Given the description of an element on the screen output the (x, y) to click on. 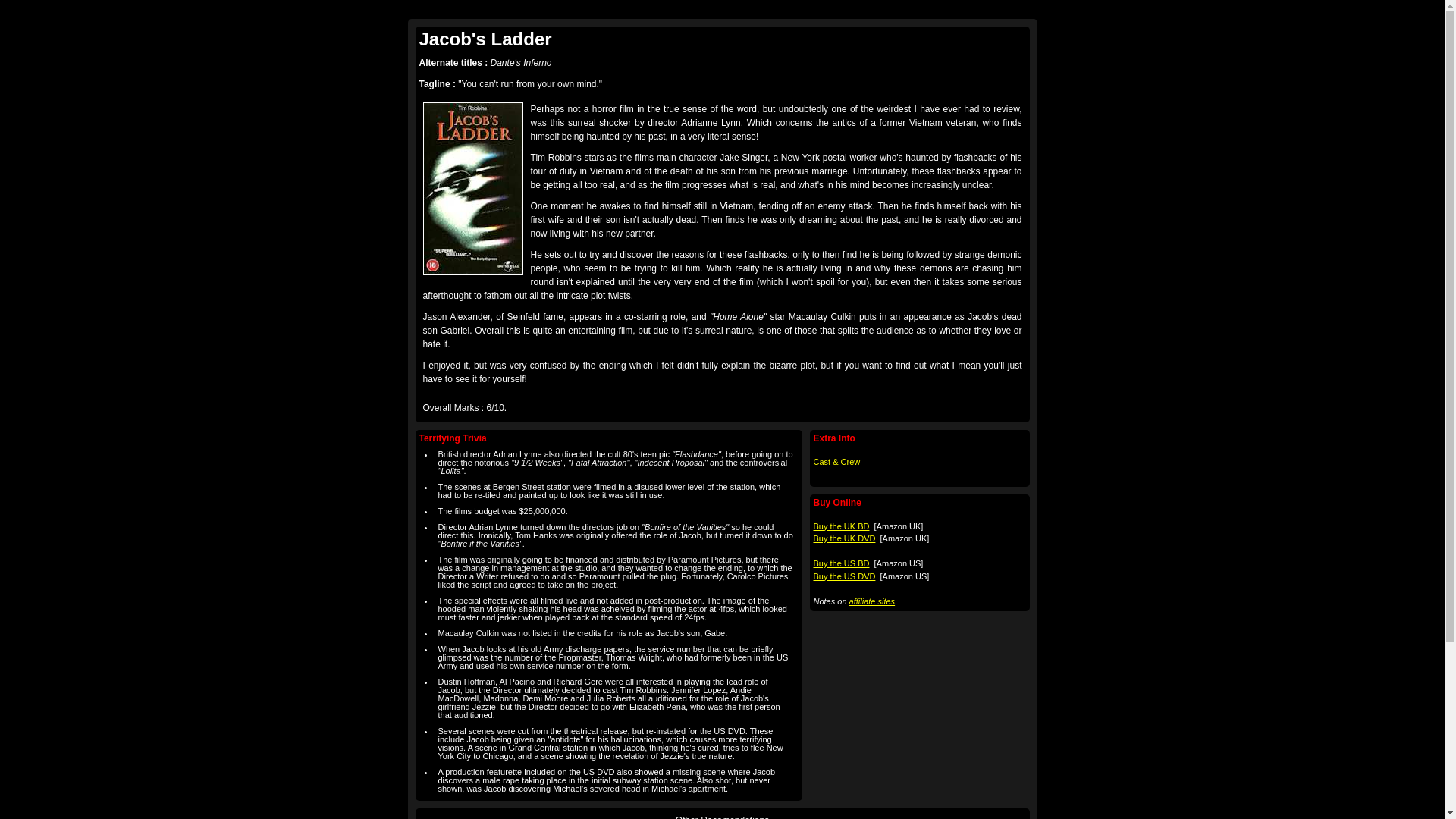
Buy the UK DVD (843, 537)
affiliate sites (871, 600)
Buy the US DVD (843, 575)
Buy the US BD (840, 563)
Buy the UK BD (840, 525)
